Given the description of an element on the screen output the (x, y) to click on. 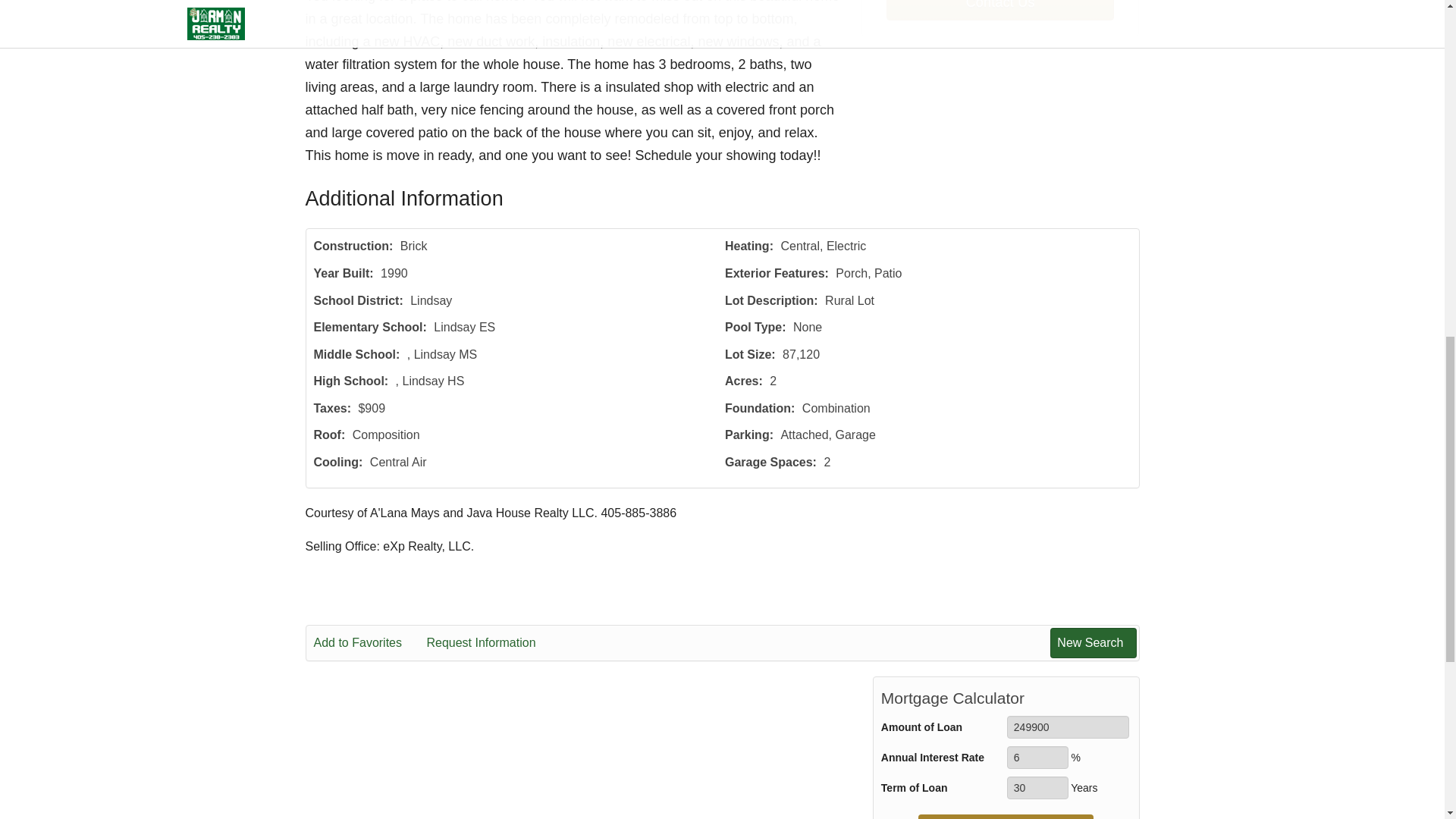
Contact Us (999, 10)
6 (1037, 757)
249900 (1068, 726)
30 (1037, 787)
